Given the description of an element on the screen output the (x, y) to click on. 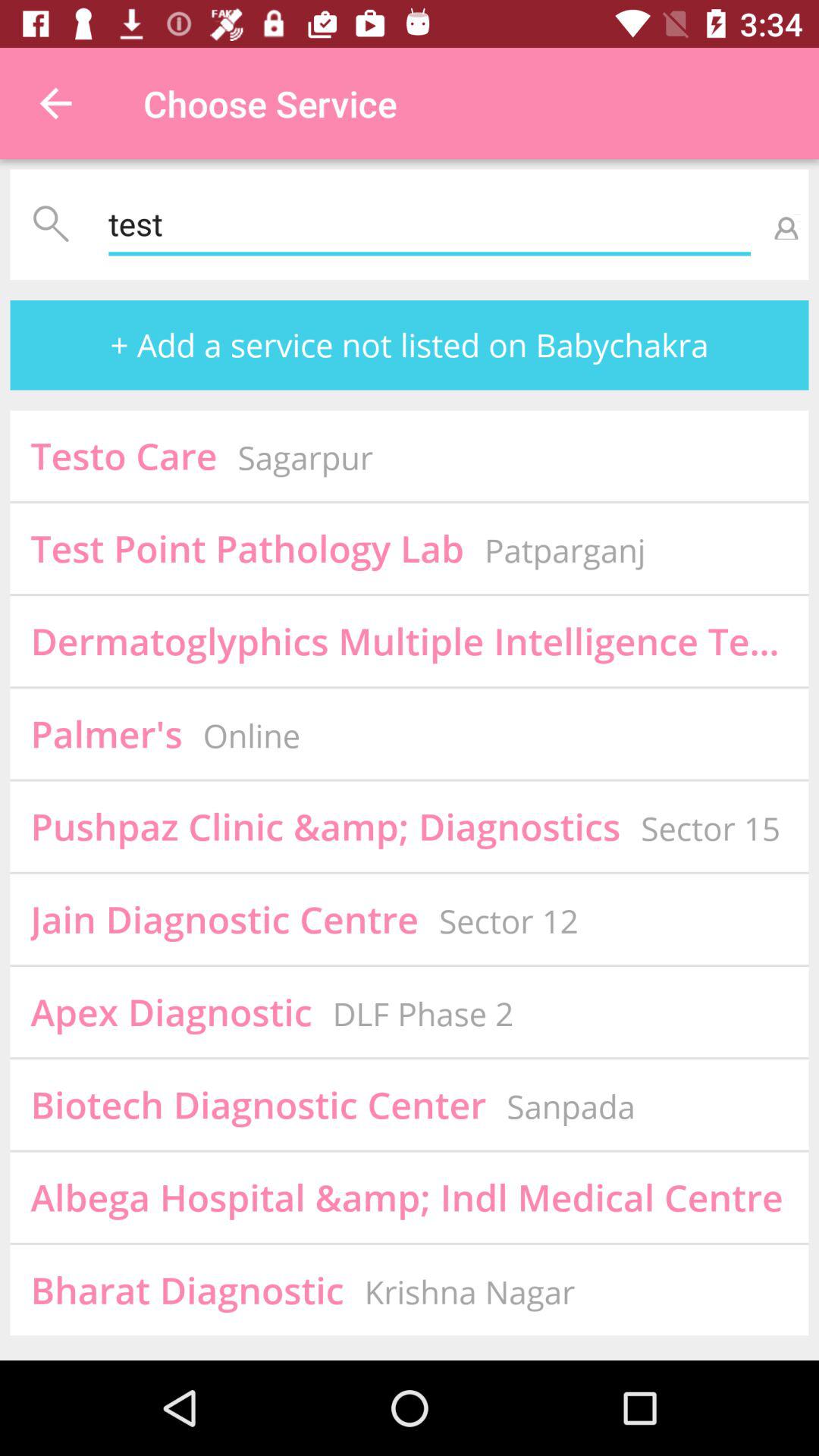
tap the item to the right of test (783, 224)
